Given the description of an element on the screen output the (x, y) to click on. 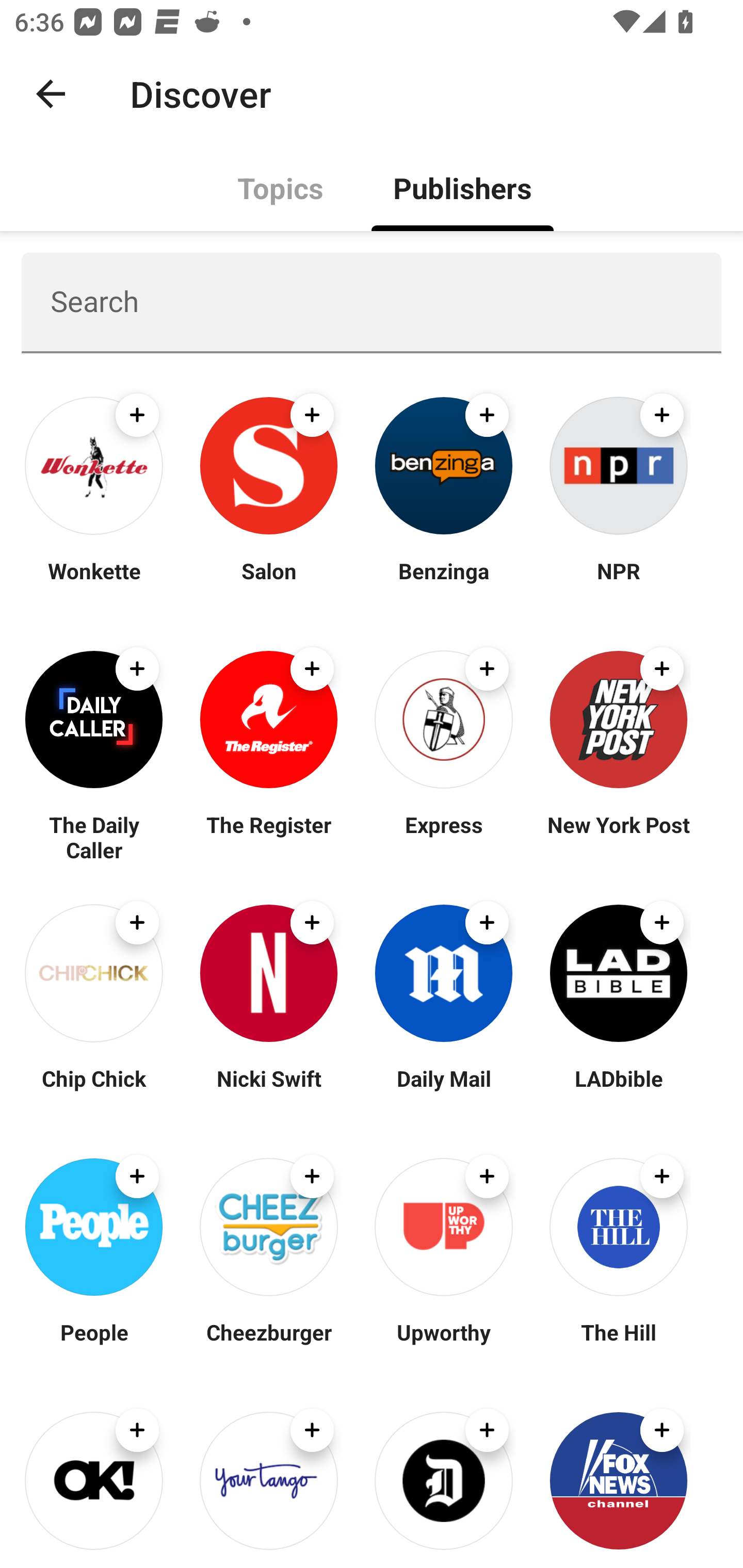
Topics (280, 187)
Search (371, 302)
Wonkette (93, 582)
Salon (268, 582)
Benzinga (443, 582)
NPR (618, 582)
The Daily Caller (93, 836)
The Register (268, 836)
Express (443, 836)
New York Post (618, 836)
Chip Chick (93, 1090)
Nicki Swift (268, 1090)
Daily Mail (443, 1090)
LADbible (618, 1090)
People (93, 1344)
Cheezburger (268, 1344)
Upworthy (443, 1344)
